Given the description of an element on the screen output the (x, y) to click on. 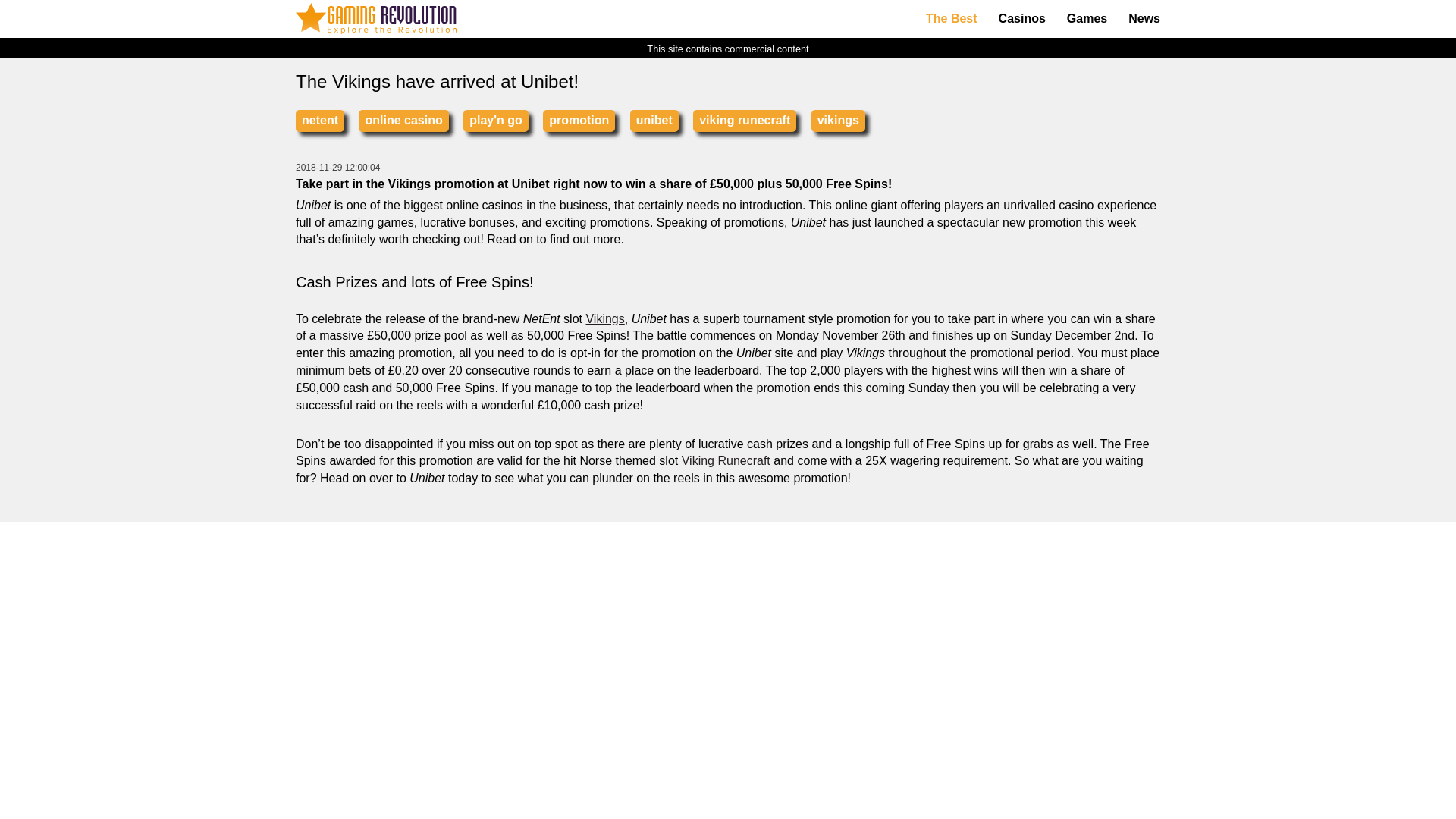
unibet (654, 120)
Games (1087, 19)
viking runecraft (744, 120)
News (1144, 19)
online casino (403, 120)
netent (319, 120)
The Best (951, 19)
Vikings (604, 318)
play'n go (495, 120)
Casinos (1022, 19)
